Given the description of an element on the screen output the (x, y) to click on. 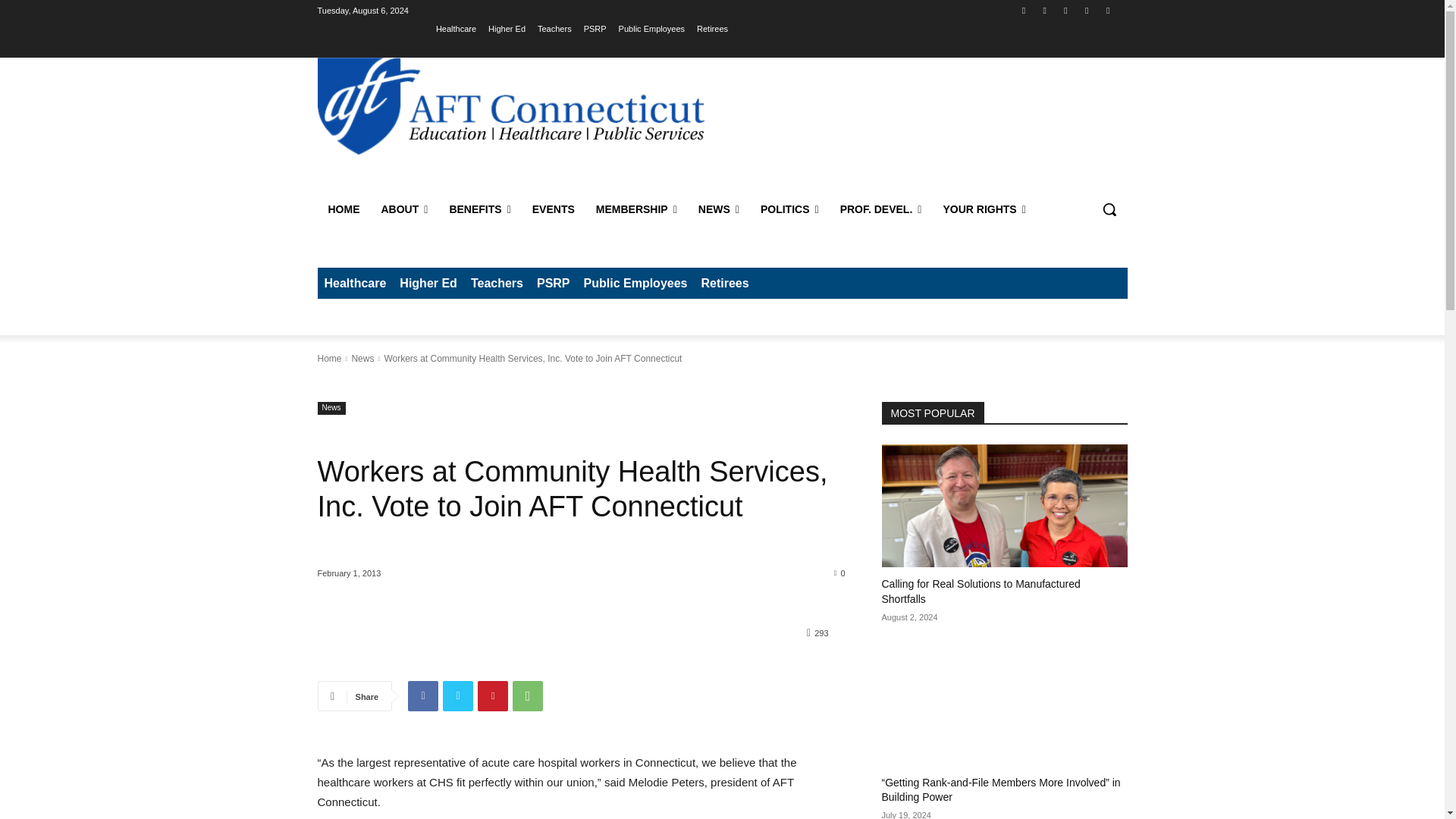
Instagram (1043, 9)
WhatsApp (527, 695)
View all posts in News (362, 357)
Youtube (1107, 9)
Facebook (422, 695)
Facebook (1023, 9)
Twitter (457, 695)
Twitter (1087, 9)
Mail (1065, 9)
Pinterest (492, 695)
